Given the description of an element on the screen output the (x, y) to click on. 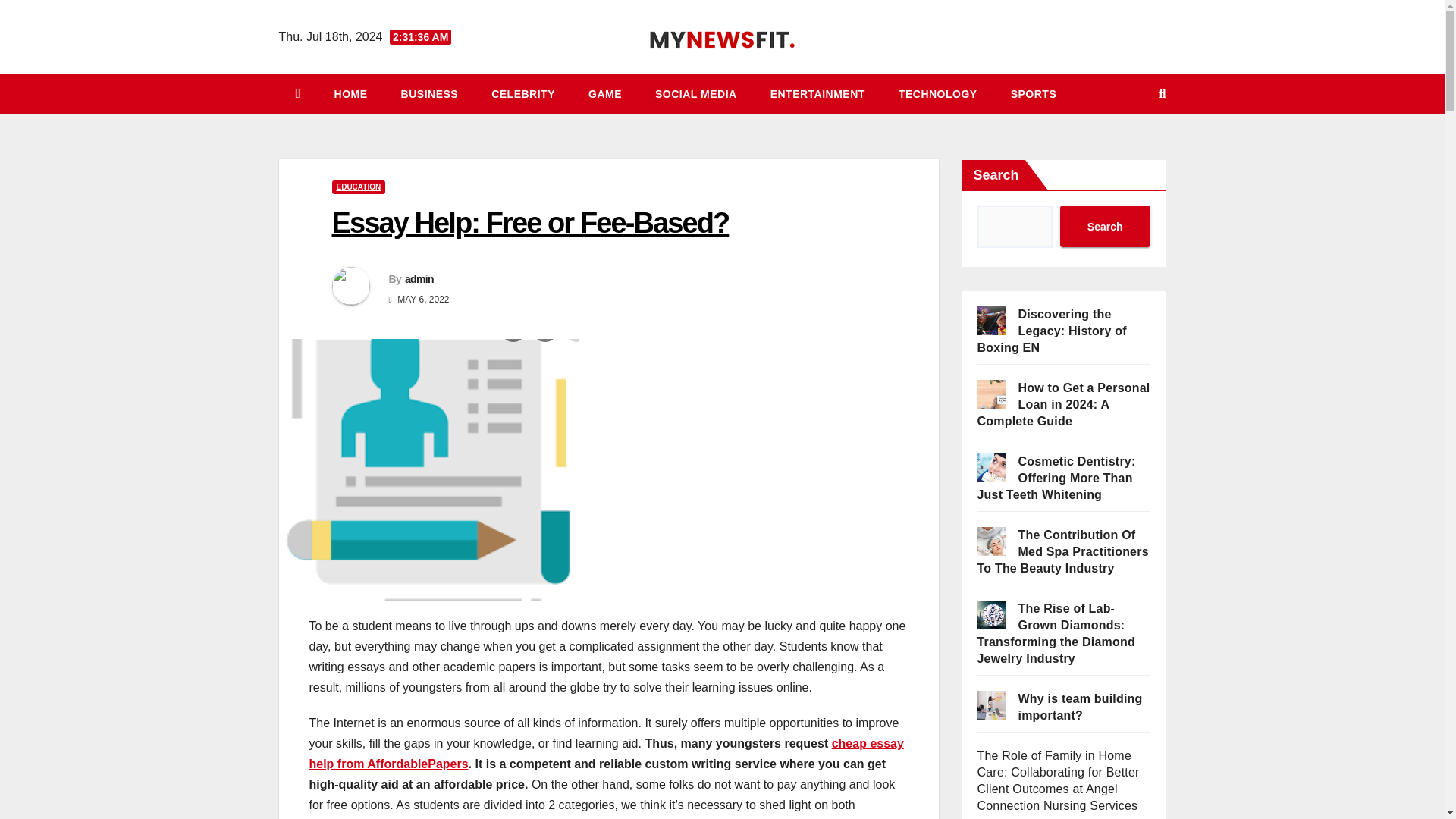
EDUCATION (358, 187)
Entertainment (818, 93)
GAME (605, 93)
Technology (938, 93)
Celebrity (523, 93)
Game (605, 93)
admin (418, 278)
Essay Help: Free or Fee-Based? (530, 223)
Social Media (696, 93)
Permalink to: Essay Help: Free or Fee-Based? (530, 223)
Home (350, 93)
HOME (350, 93)
cheap essay help from AffordablePapers (606, 753)
Sports (1034, 93)
CELEBRITY (523, 93)
